Given the description of an element on the screen output the (x, y) to click on. 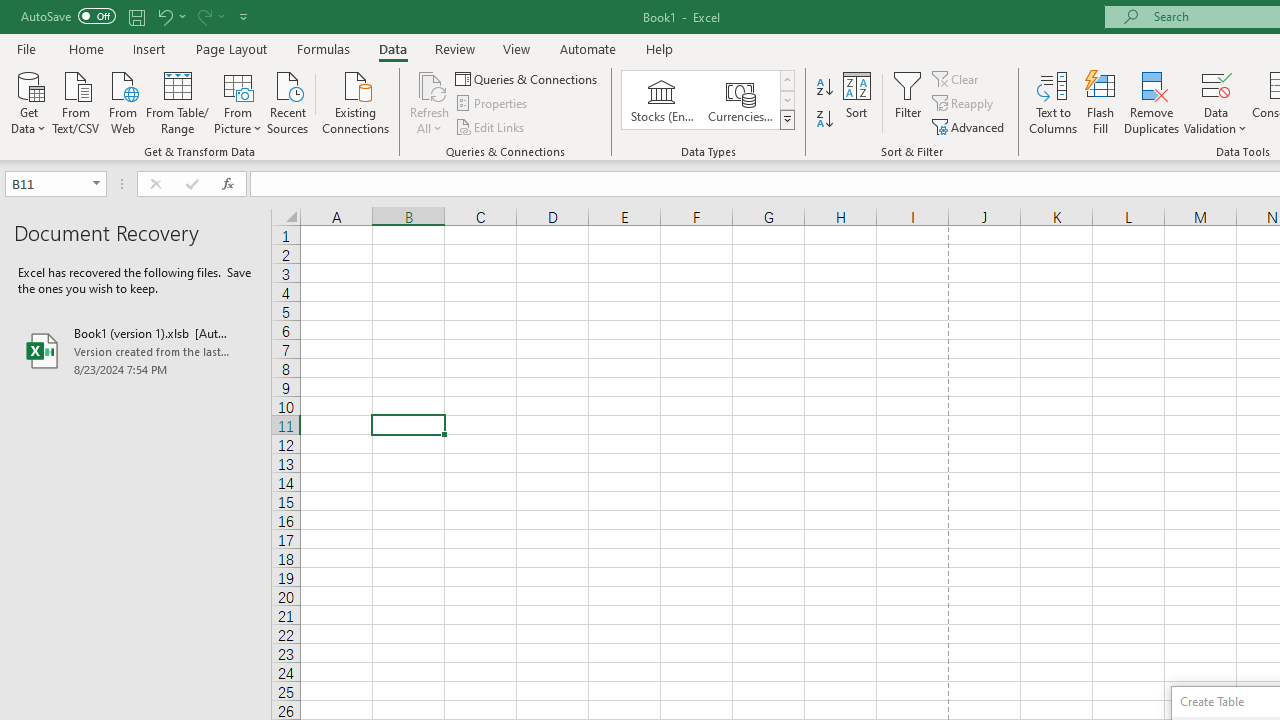
From Text/CSV (75, 101)
Currencies (English) (740, 100)
Filter (908, 102)
Text to Columns... (1053, 102)
